Given the description of an element on the screen output the (x, y) to click on. 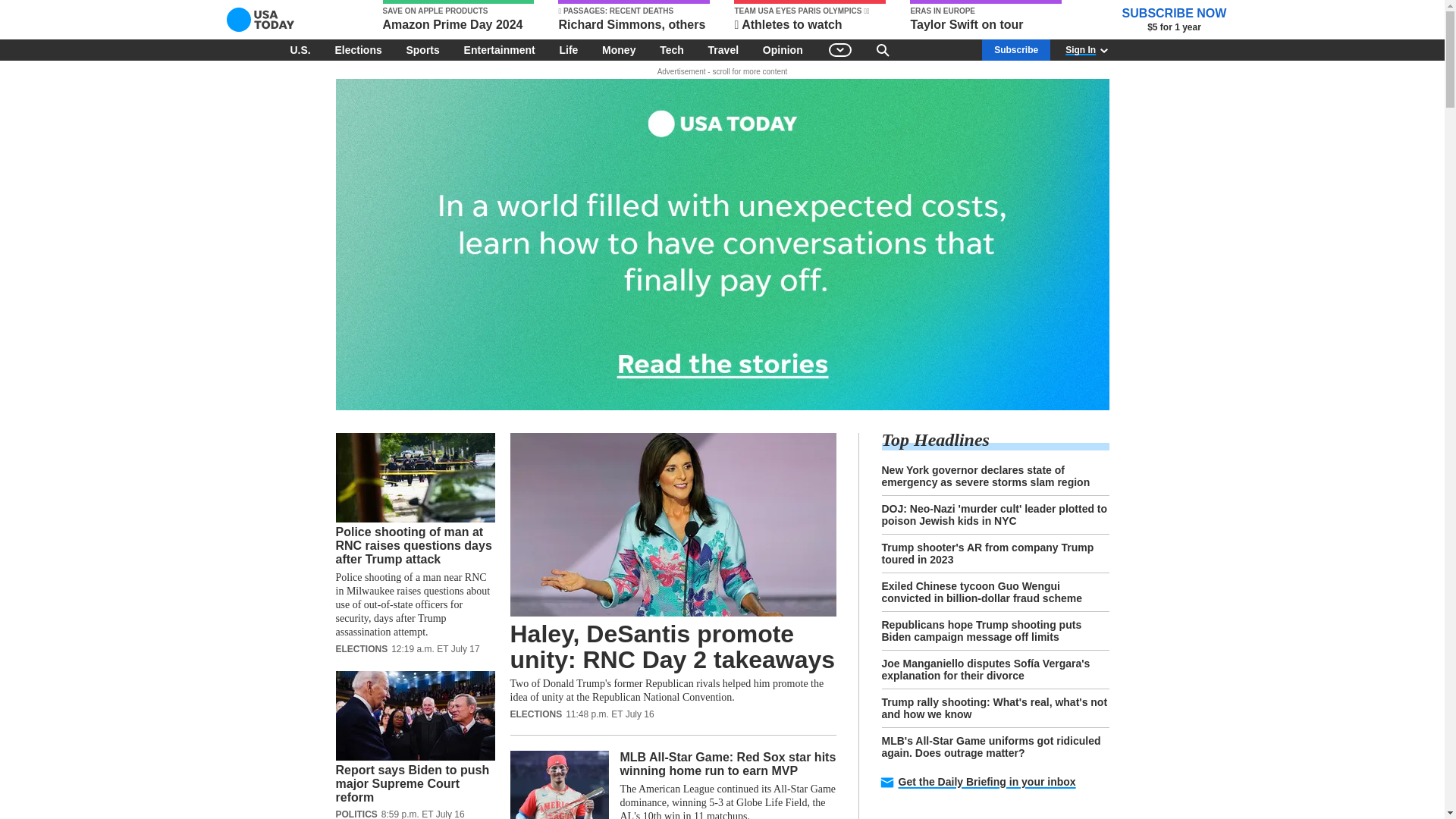
Taylor Swift on tour (985, 17)
Travel (722, 49)
U.S. (299, 49)
Opinion (782, 49)
Sports (421, 49)
Entertainment (500, 49)
Richard Simmons, others (633, 17)
Tech (671, 49)
Life (568, 49)
Money (618, 49)
Elections (357, 49)
Search (882, 49)
Amazon Prime Day 2024 (457, 17)
